Given the description of an element on the screen output the (x, y) to click on. 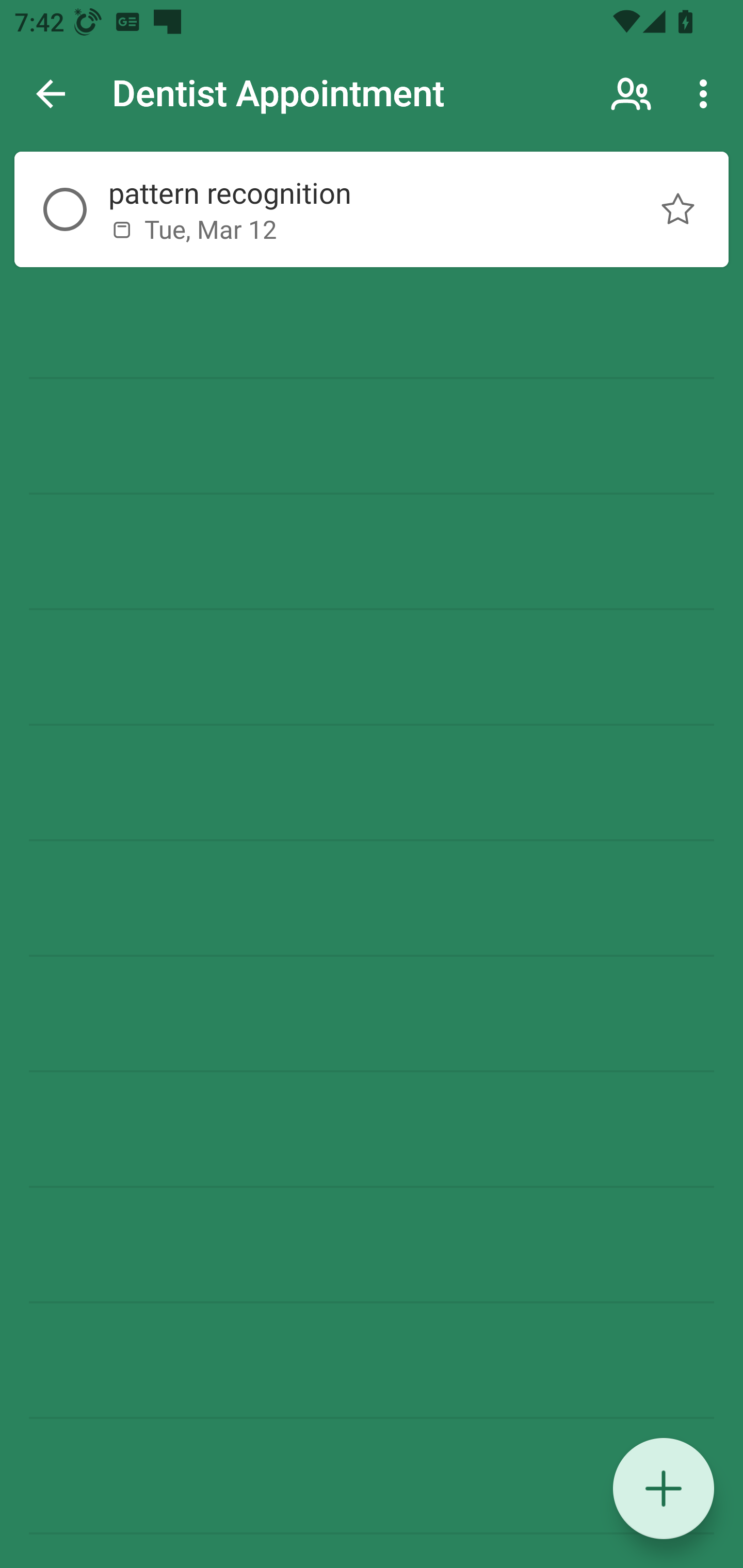
Back (50, 93)
Sharing options (632, 93)
More options (706, 93)
Incomplete task pattern recognition, Button (64, 209)
Normal task pattern recognition, Button (677, 209)
pattern recognition (356, 191)
Add a task (663, 1488)
